Given the description of an element on the screen output the (x, y) to click on. 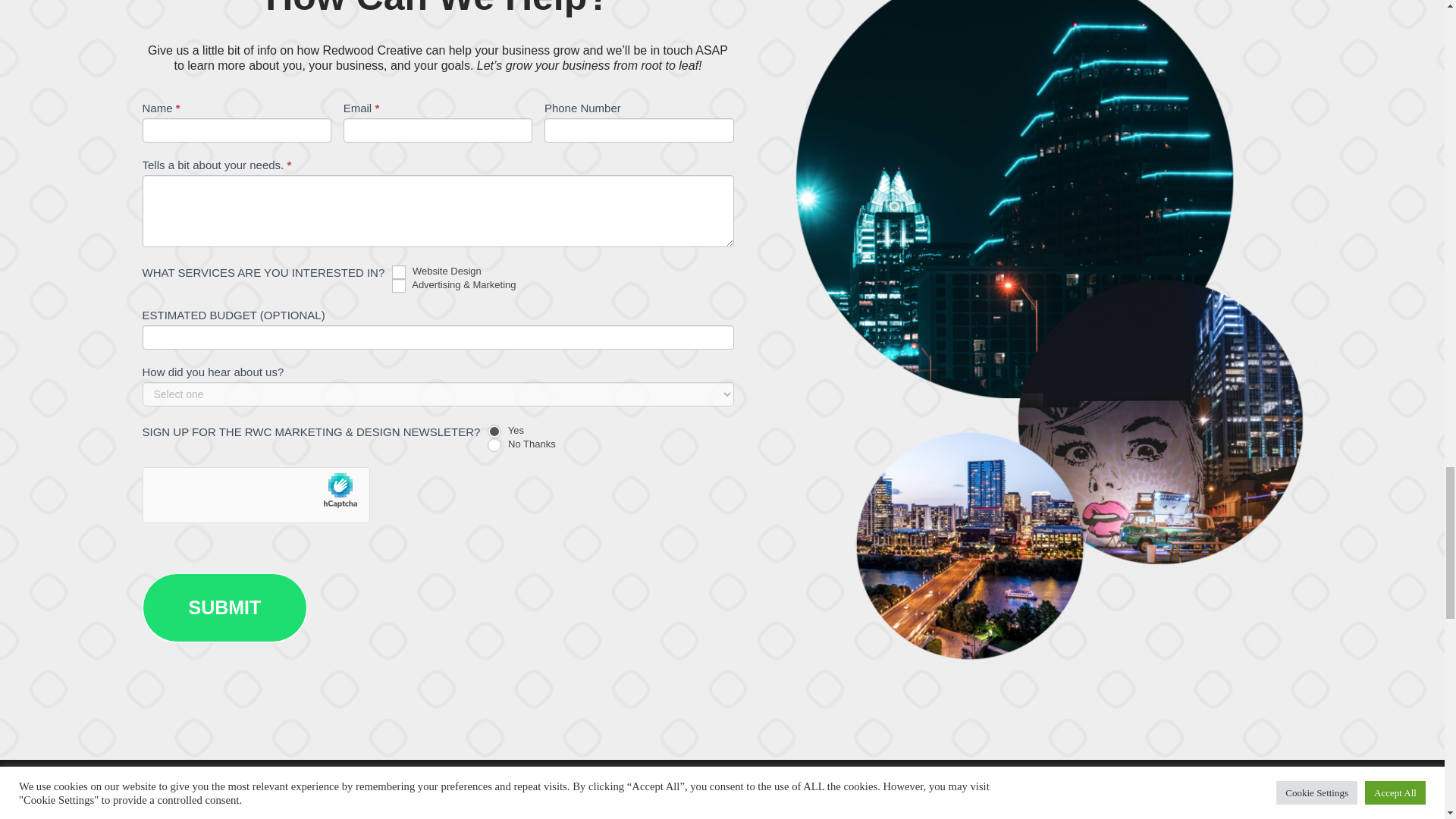
No Thanks (493, 445)
Website Design (398, 272)
Yes (493, 431)
Widget containing checkbox for hCaptcha security challenge (257, 496)
